Given the description of an element on the screen output the (x, y) to click on. 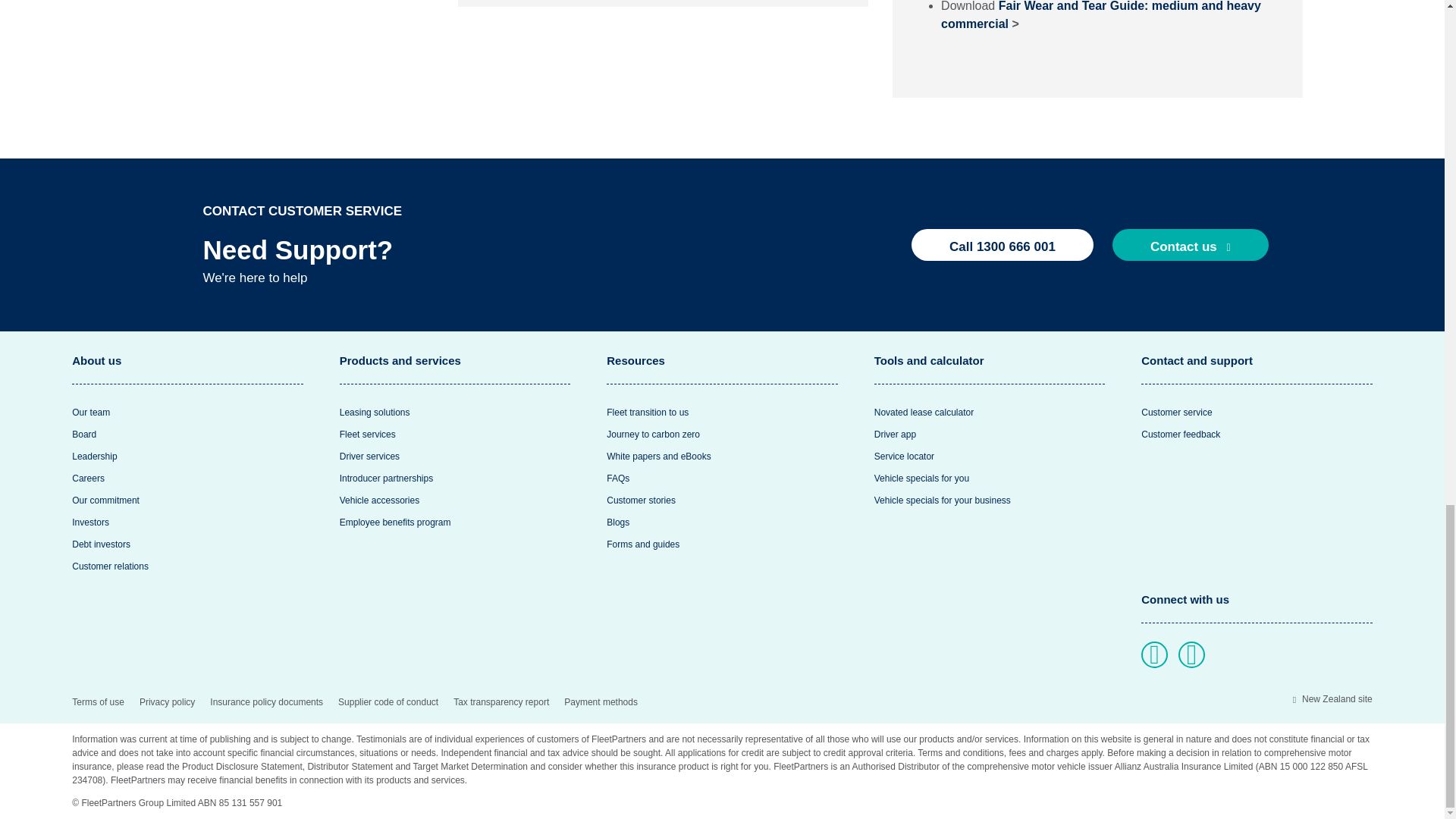
Supplier code of conduct (387, 701)
Tax transparency report (500, 701)
